Given the description of an element on the screen output the (x, y) to click on. 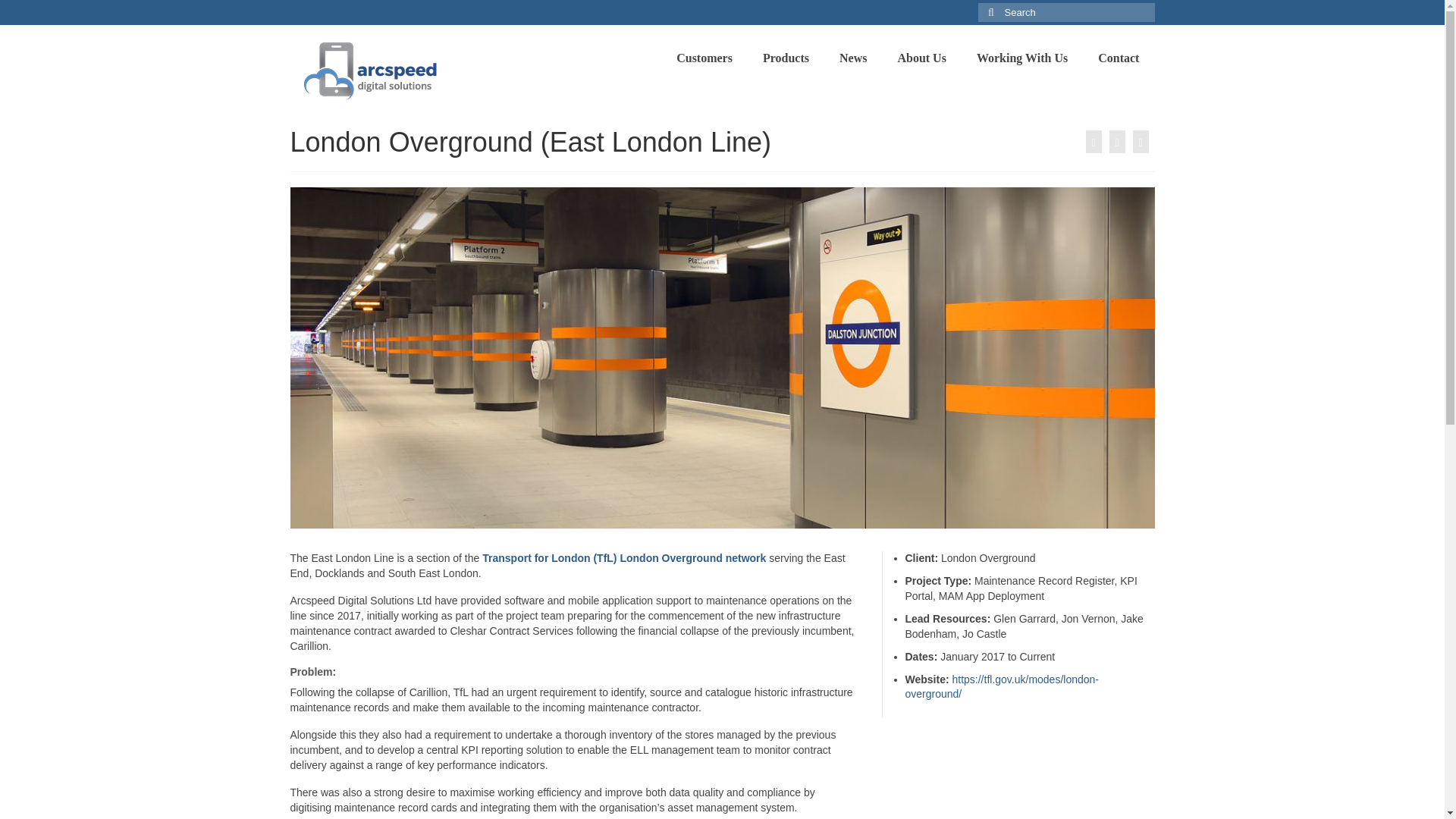
Customers (704, 58)
Products (786, 58)
Working With Us (1021, 58)
Contact (1118, 58)
News (853, 58)
About Us (921, 58)
